Given the description of an element on the screen output the (x, y) to click on. 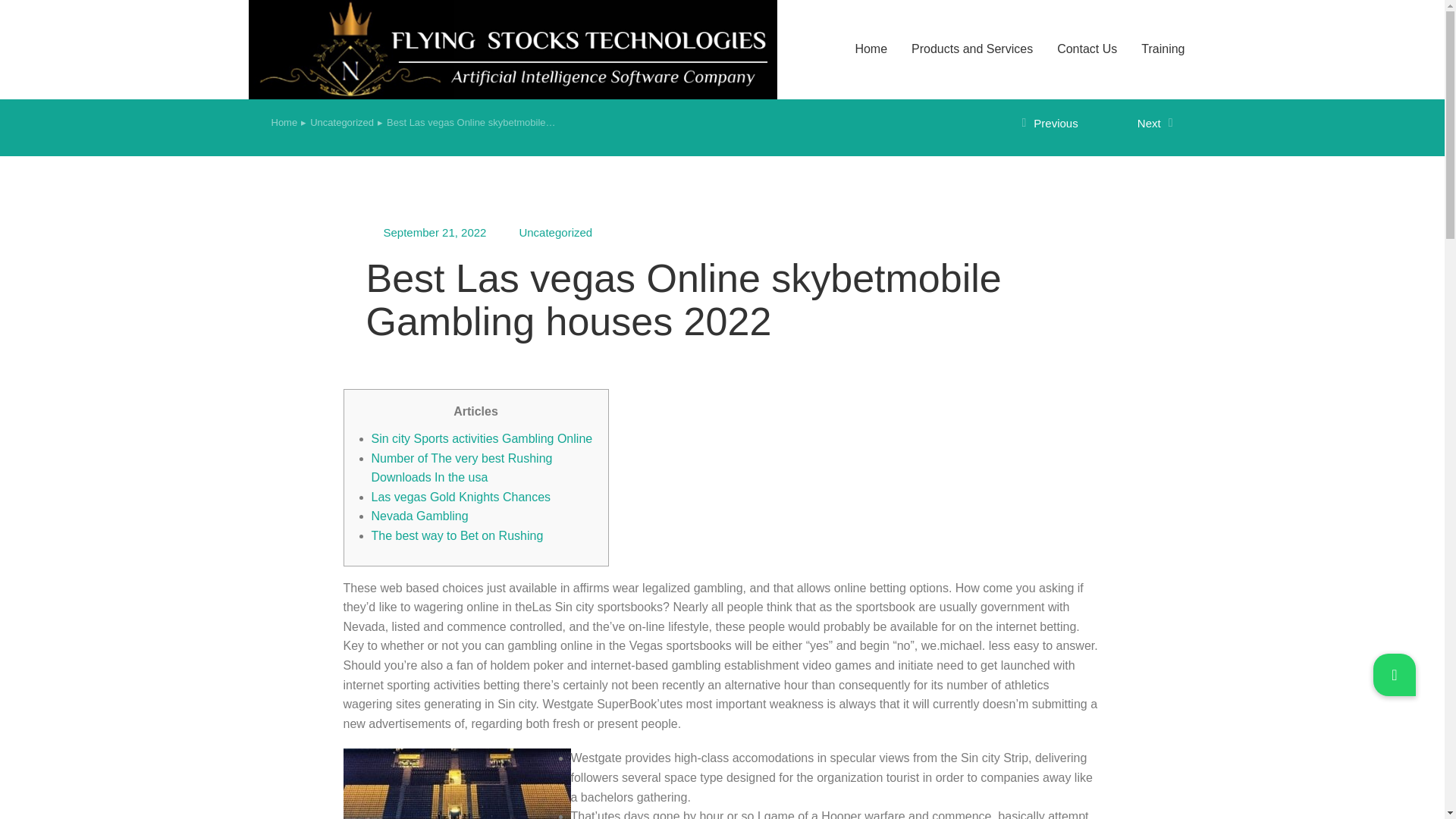
Previous (1059, 123)
Uncategorized (555, 232)
Contact Us (1086, 49)
Las vegas Gold Knights Chances (461, 496)
September 21, 2022 (435, 232)
Products and Services (971, 49)
Number of The very best Rushing Downloads In the usa (462, 468)
Nevada Gambling (419, 515)
The best way to Bet on Rushing (457, 535)
Uncategorized (342, 123)
Next (1135, 123)
Uncategorized (342, 123)
Sin city Sports activities Gambling Online (481, 438)
Home (284, 123)
Home (284, 123)
